Given the description of an element on the screen output the (x, y) to click on. 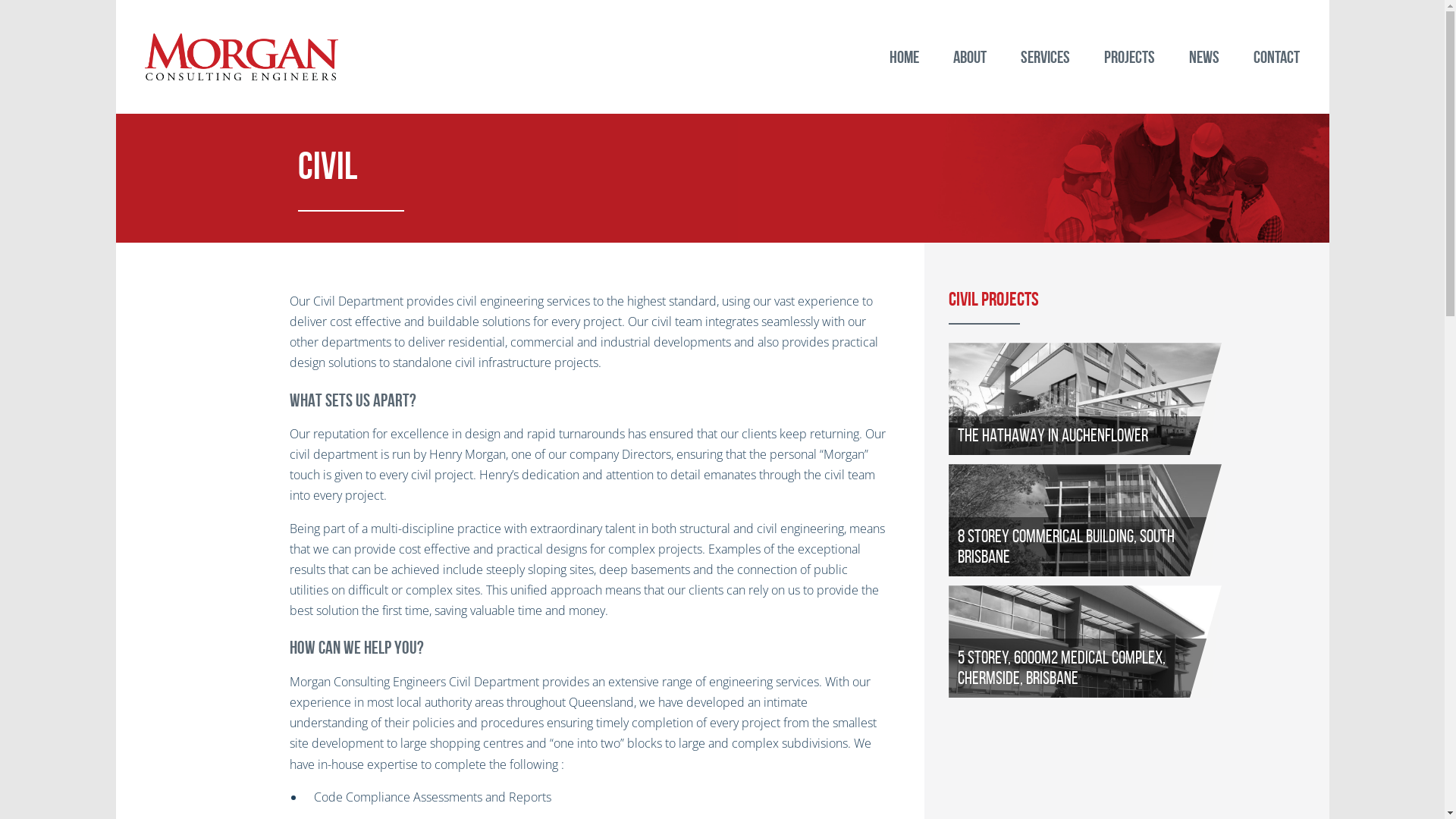
NEWS Element type: text (1204, 56)
8 STOREY COMMERICAL BUILDING, SOUTH BRISBANE Element type: text (1126, 520)
ABOUT Element type: text (969, 56)
5 STOREY, 6000M2 MEDICAL COMPLEX, CHERMSIDE, BRISBANE Element type: text (1126, 641)
HOME Element type: text (903, 56)
CONTACT Element type: text (1276, 56)
SERVICES Element type: text (1045, 56)
THE HATHAWAY IN AUCHENFLOWER Element type: text (1126, 398)
PROJECTS Element type: text (1129, 56)
